Given the description of an element on the screen output the (x, y) to click on. 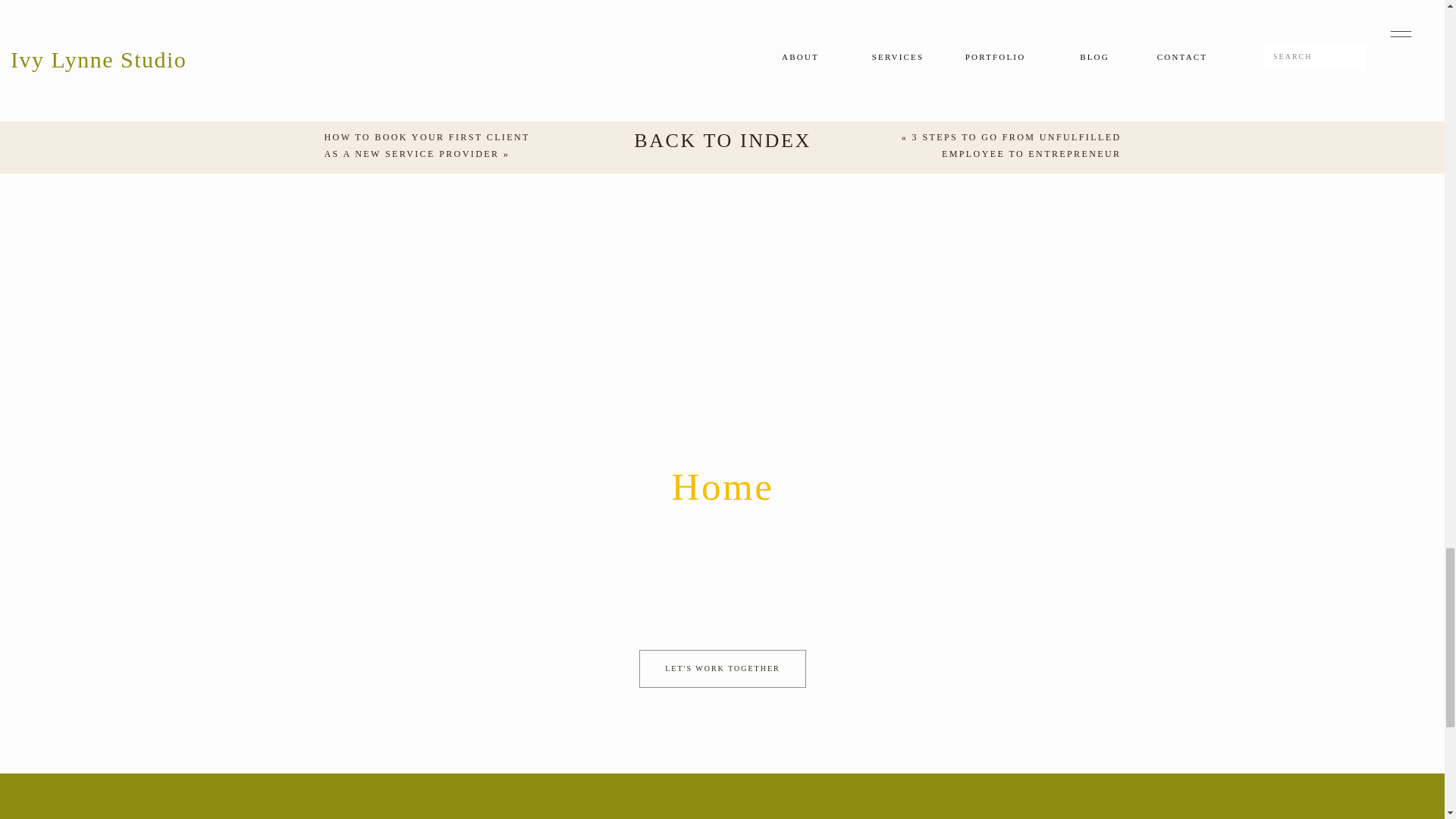
BACK TO INDEX (721, 141)
LET'S WORK TOGETHER (721, 668)
HOW TO BOOK YOUR FIRST CLIENT AS A NEW SERVICE PROVIDER (426, 144)
3 STEPS TO GO FROM UNFULFILLED EMPLOYEE TO ENTREPRENEUR (1016, 144)
